Given the description of an element on the screen output the (x, y) to click on. 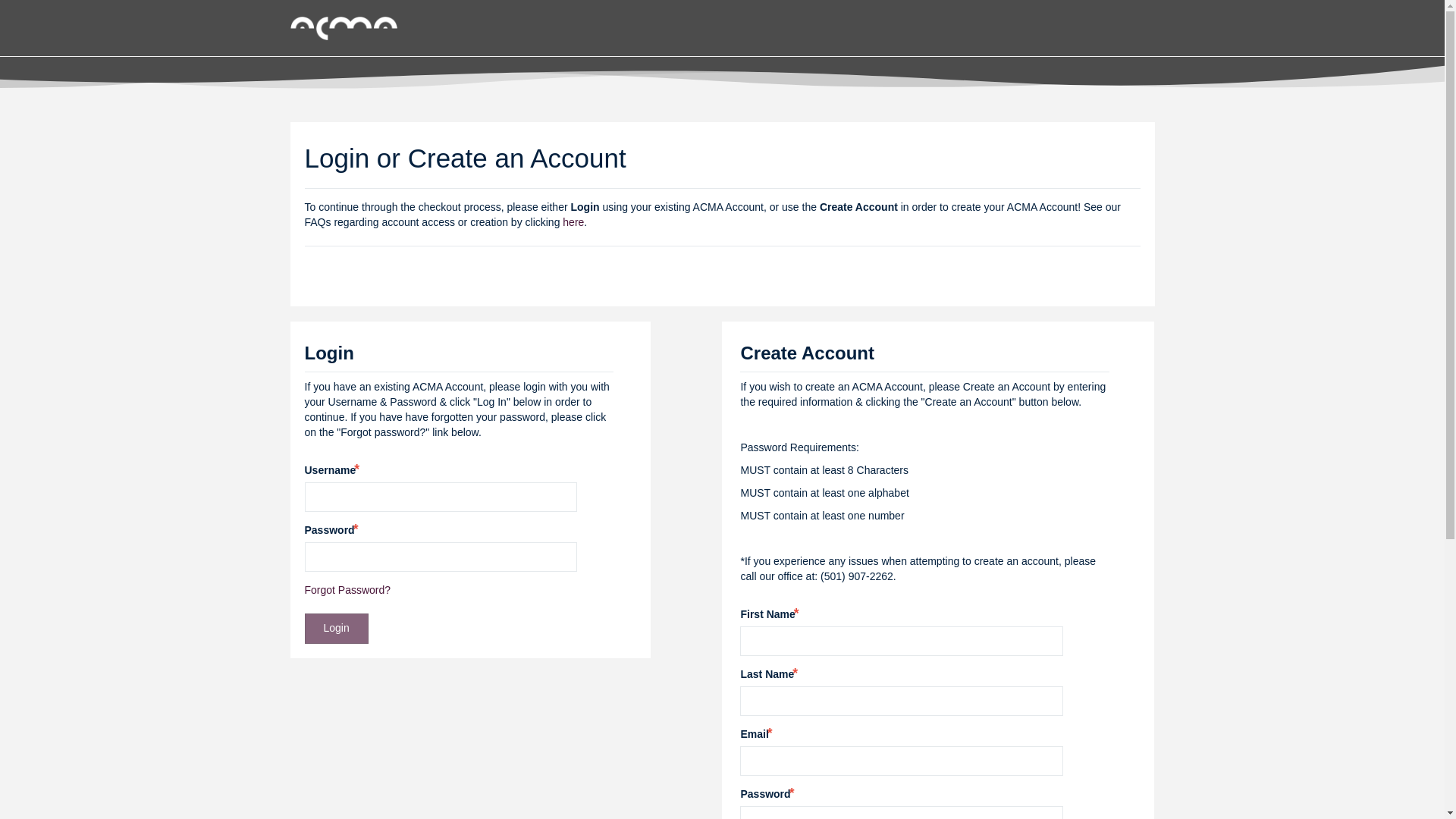
Forgot Password? (347, 589)
Login (336, 628)
here (572, 222)
Forgot Password? (347, 589)
